Given the description of an element on the screen output the (x, y) to click on. 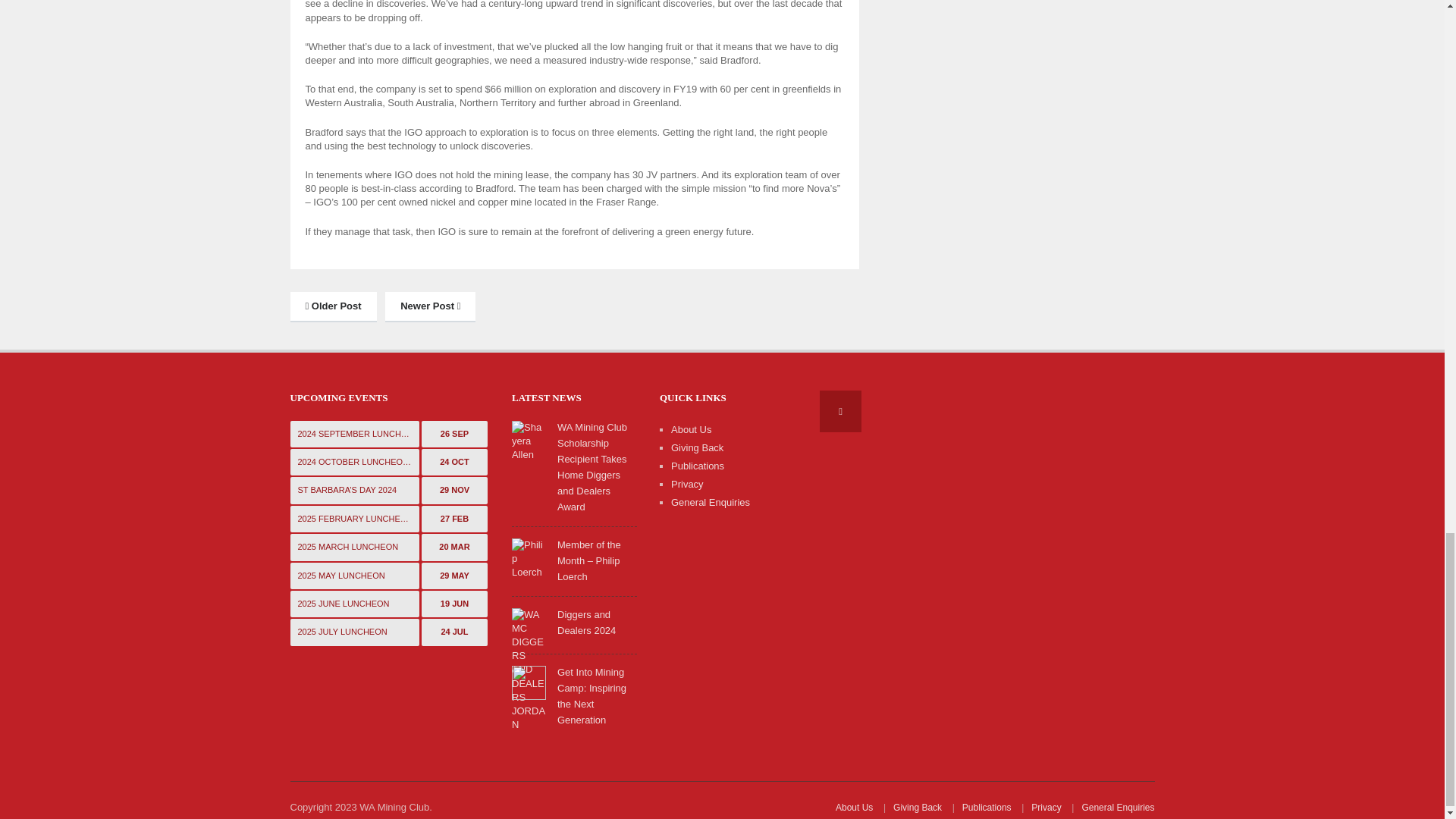
Diggers and Dealers 2024 (529, 696)
Get Into Mining Camp: Inspiring the Next Generation (529, 681)
